Given the description of an element on the screen output the (x, y) to click on. 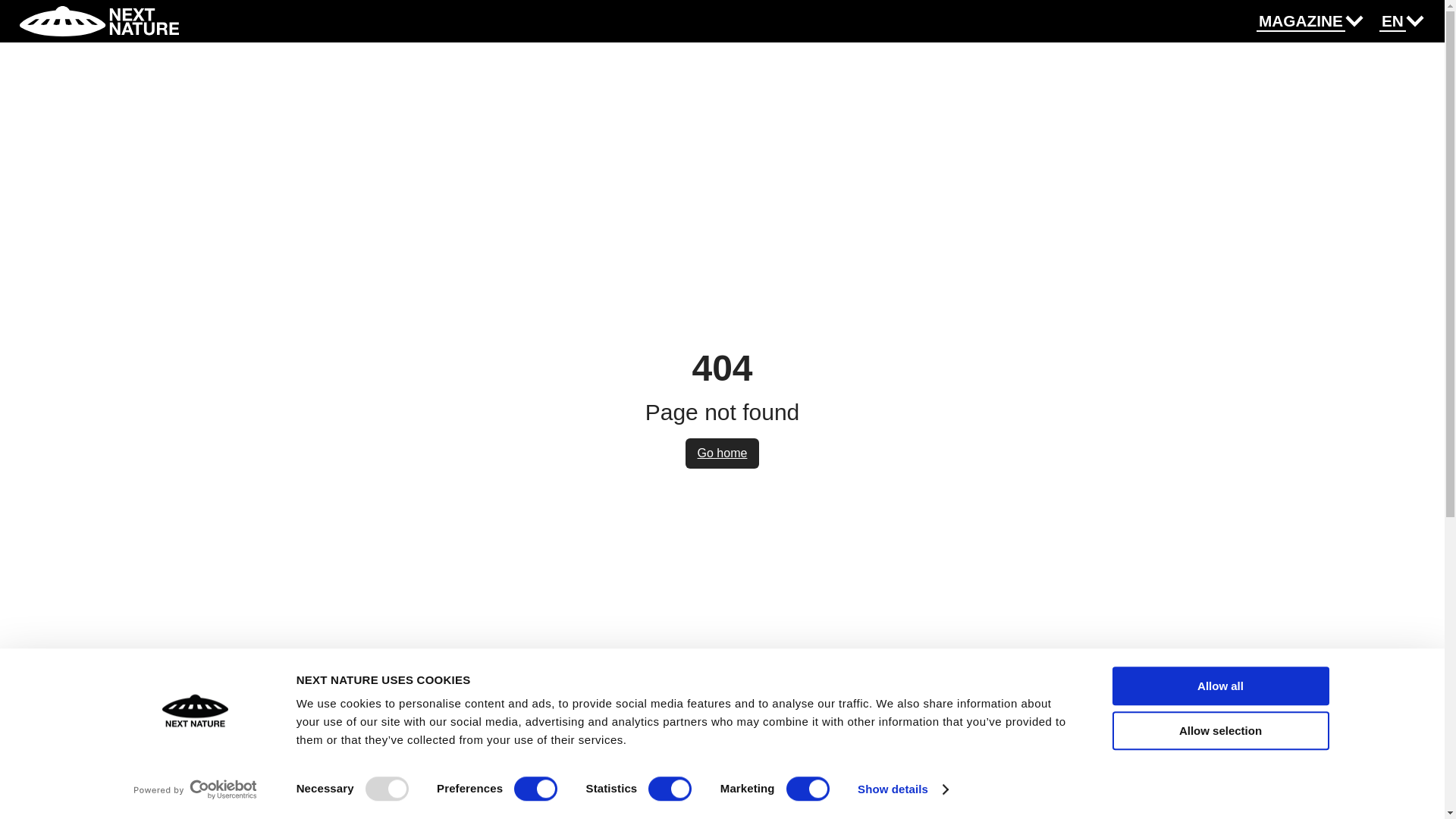
Allow all (1219, 685)
Allow selection (1219, 730)
Show details (902, 789)
